Given the description of an element on the screen output the (x, y) to click on. 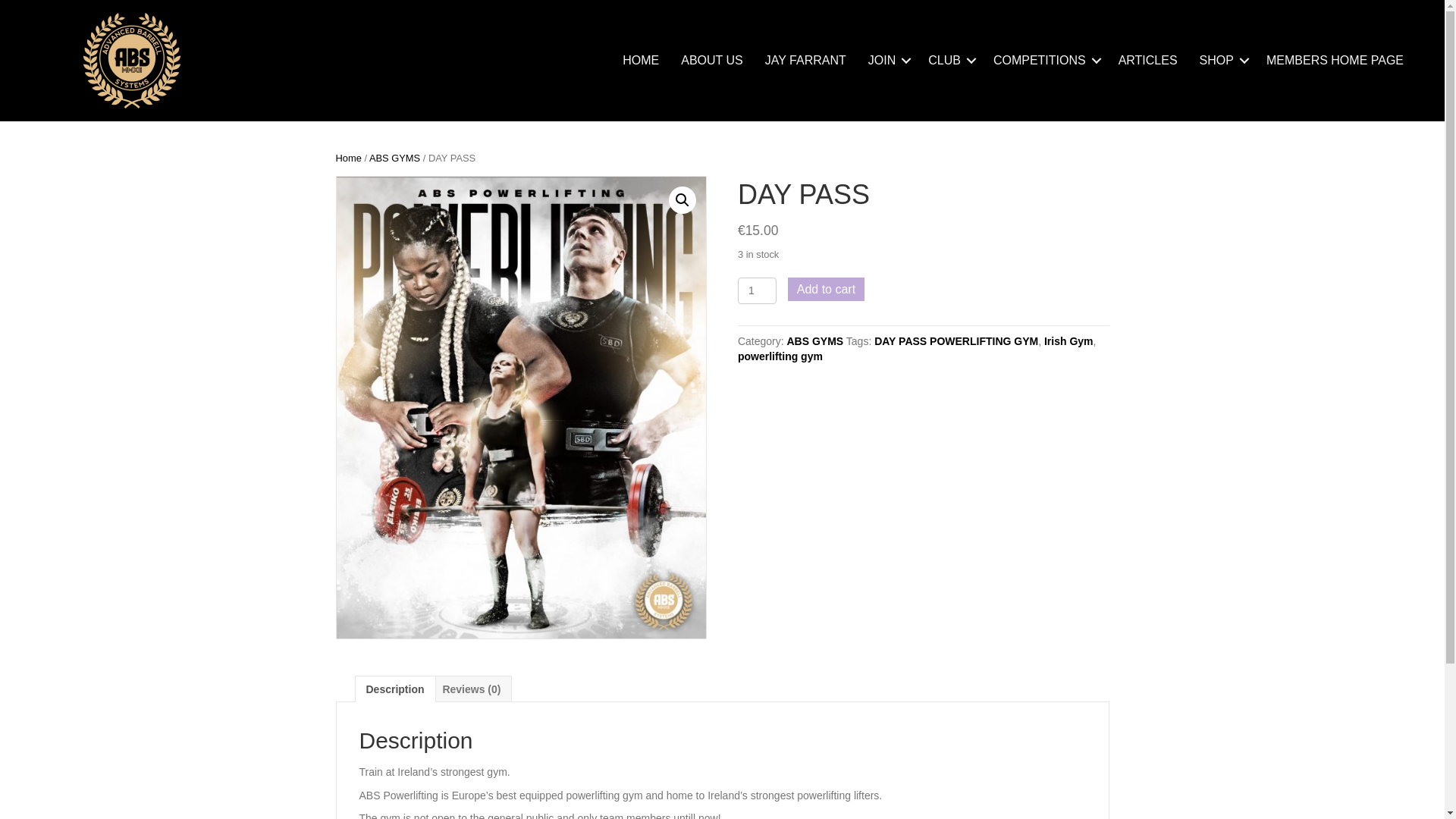
Add to cart (825, 289)
ARTICLES (1148, 59)
Irish Gym (1068, 340)
MEMBERS HOME PAGE (1334, 59)
COMPETITIONS (1044, 59)
ABS GYMS (394, 157)
ABS GYMS (815, 340)
powerlifting gym (780, 356)
logo (132, 60)
Home (347, 157)
